Given the description of an element on the screen output the (x, y) to click on. 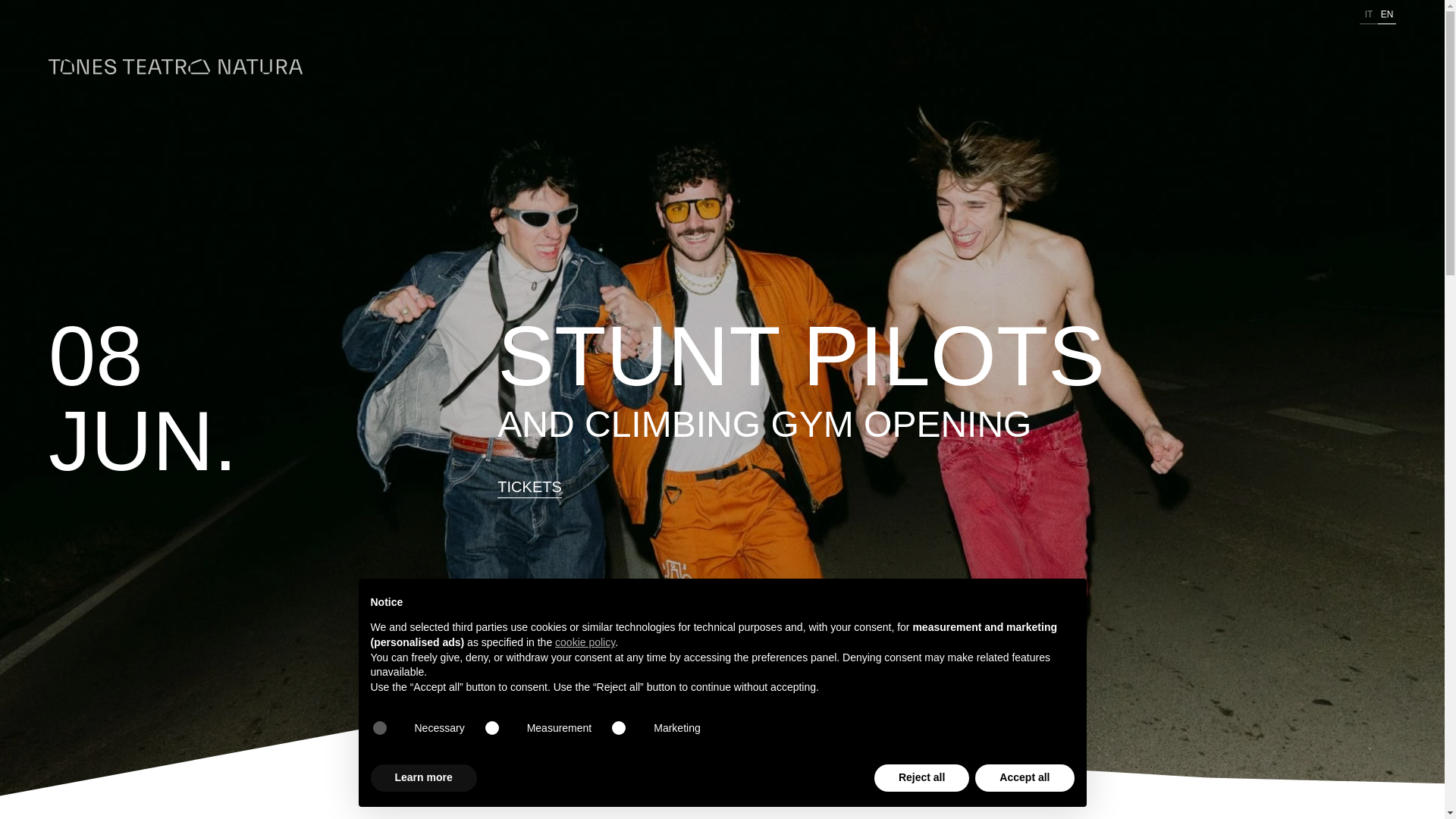
false (628, 728)
TICKETS (528, 486)
false (501, 728)
true (387, 728)
